Given the description of an element on the screen output the (x, y) to click on. 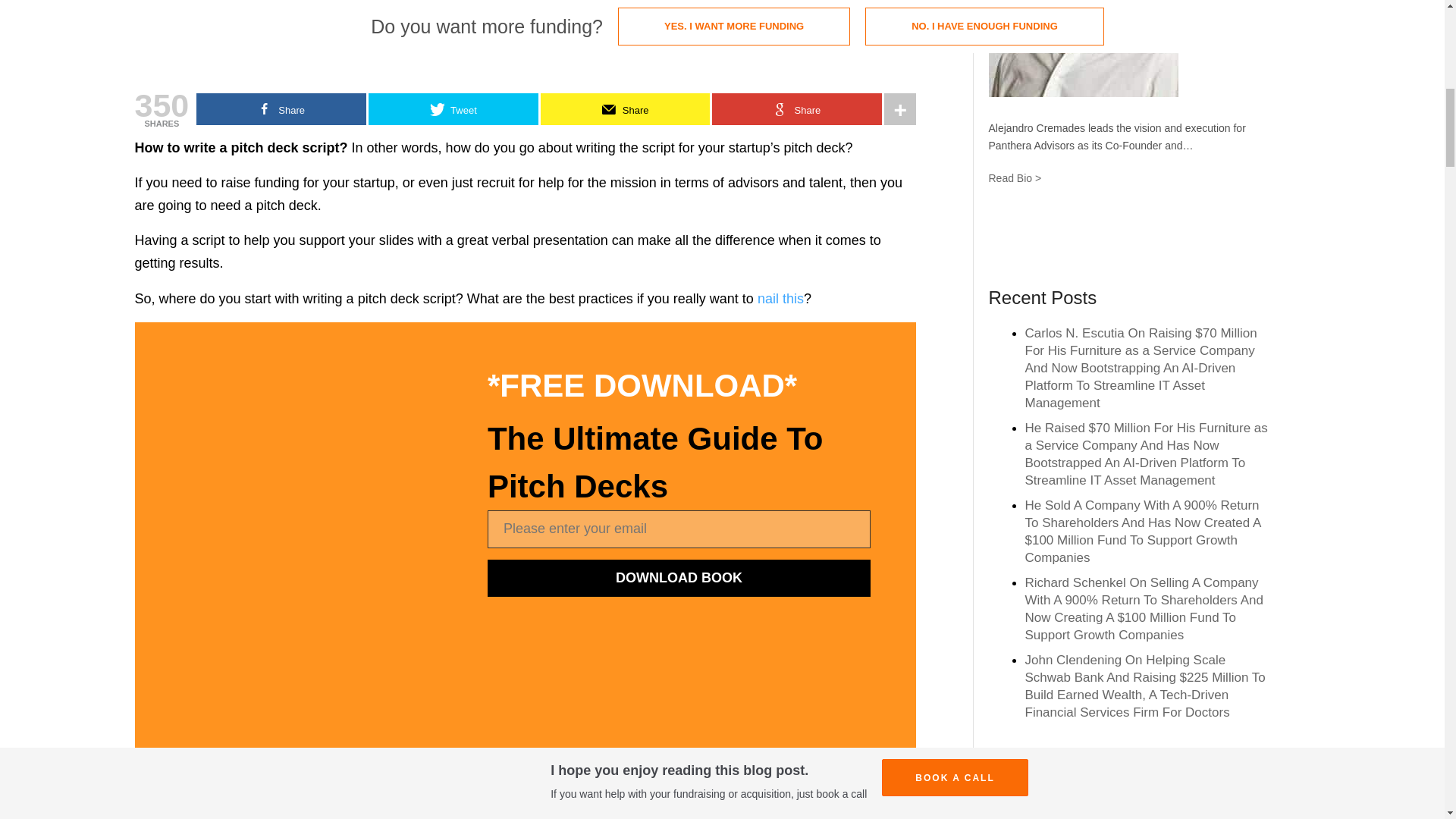
Download Book (678, 578)
Linkedin Connect (1125, 237)
Linkedin Connect (1125, 236)
Share (281, 109)
Share (796, 109)
Share (625, 109)
Tweet (453, 109)
